Given the description of an element on the screen output the (x, y) to click on. 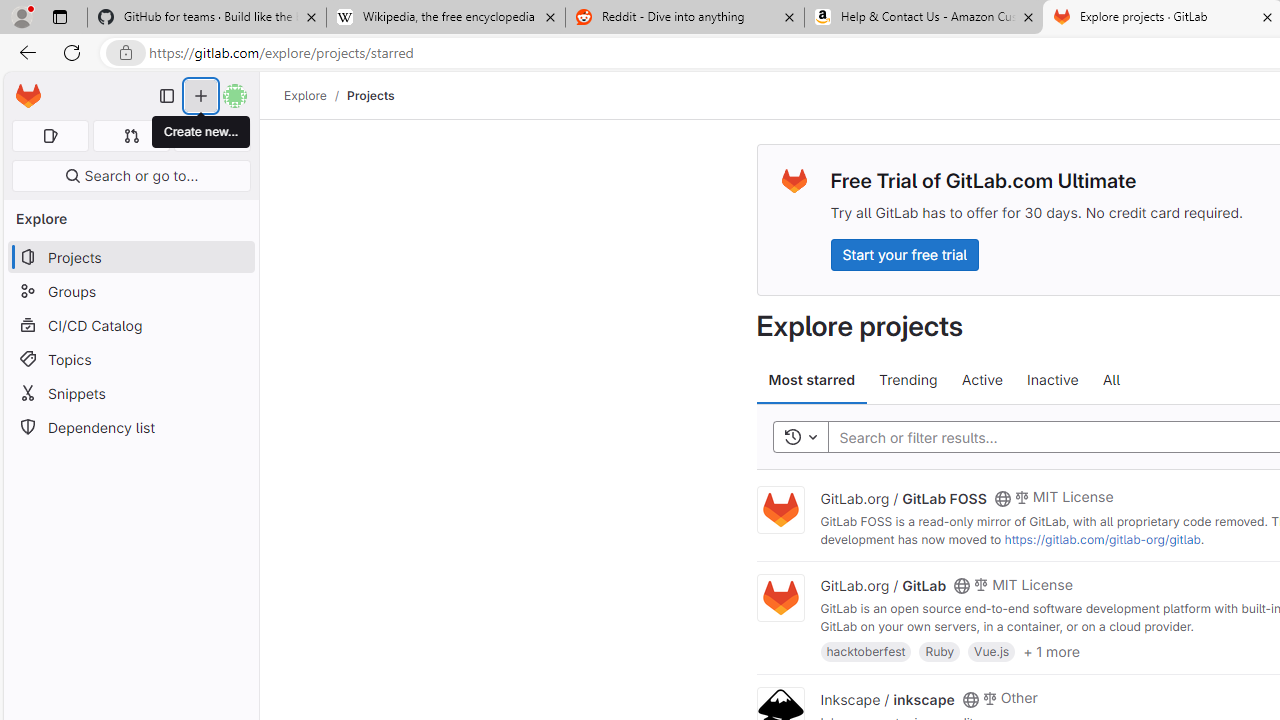
GitLab.org / GitLab (883, 585)
Class: s16 (970, 699)
Snippets (130, 393)
https://gitlab.com/gitlab-org/gitlab (1101, 539)
CI/CD Catalog (130, 325)
Vue.js (991, 650)
Create new... (201, 96)
Trending (907, 379)
Toggle history (800, 437)
Groups (130, 291)
Skip to main content (23, 87)
